Given the description of an element on the screen output the (x, y) to click on. 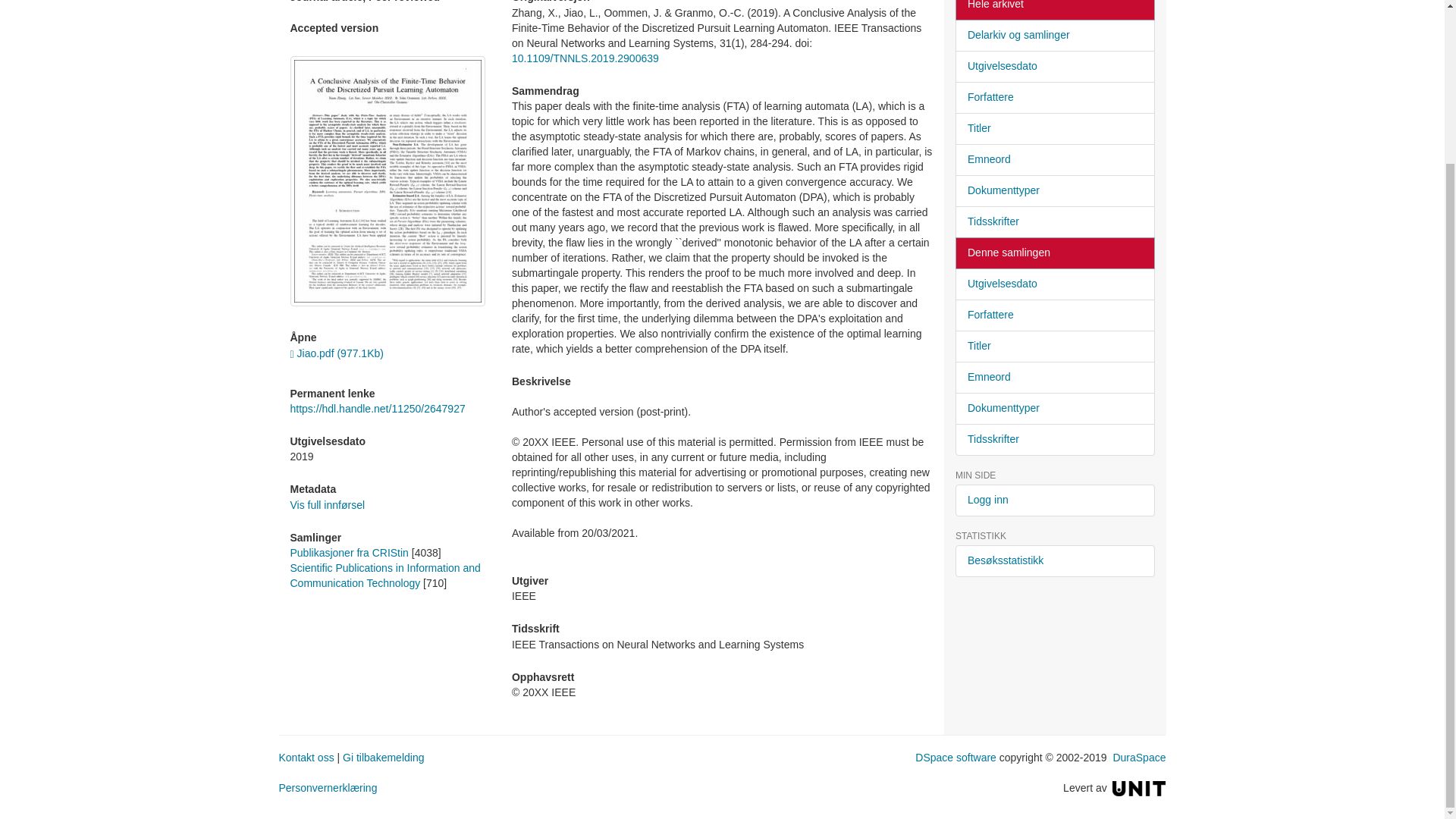
Hele arkivet (1054, 10)
Utgivelsesdato (1054, 66)
Unit (1139, 787)
Delarkiv og samlinger (1054, 35)
Publikasjoner fra CRIStin (348, 552)
